Given the description of an element on the screen output the (x, y) to click on. 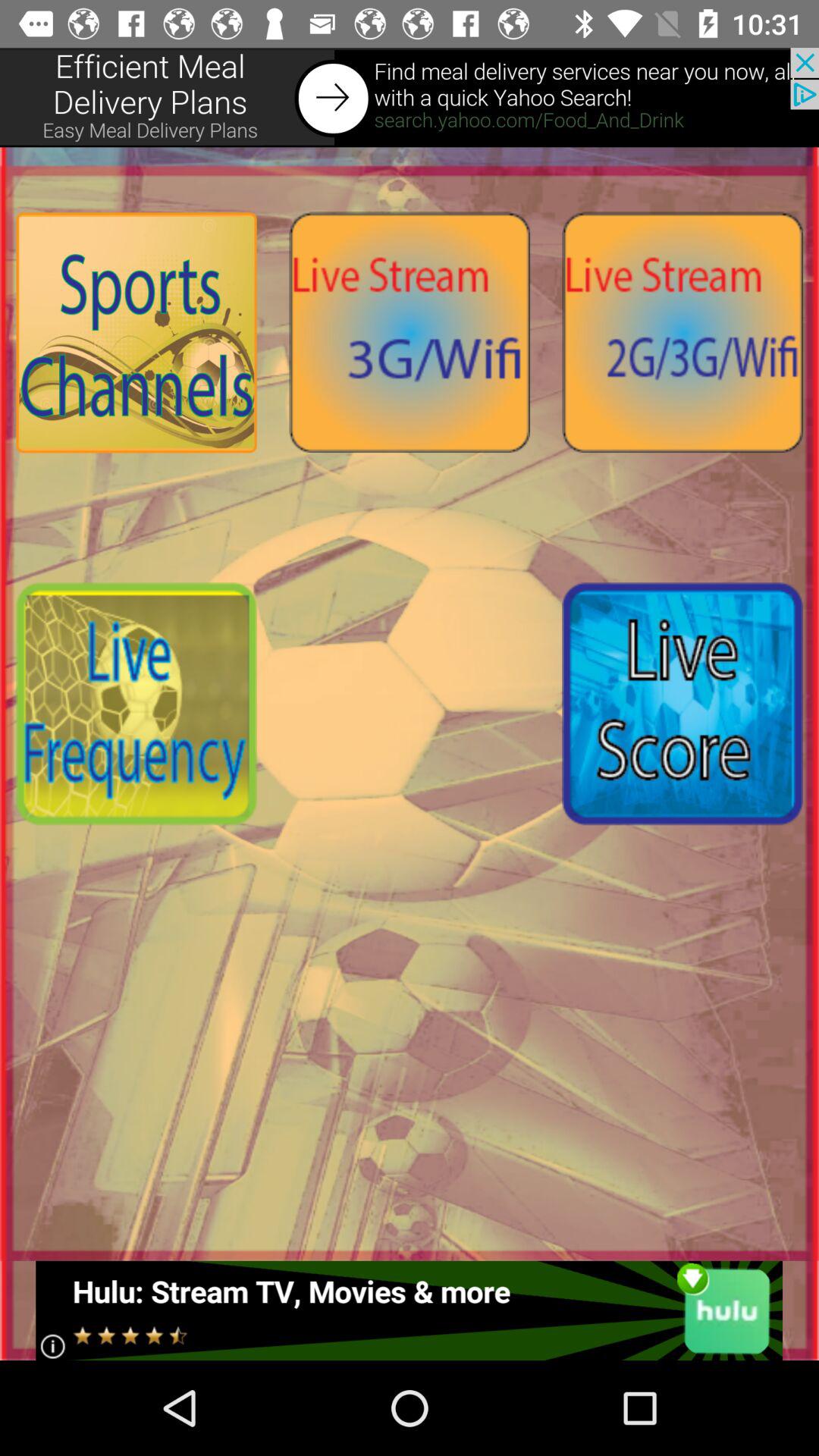
interact with advertisement (408, 1310)
